Given the description of an element on the screen output the (x, y) to click on. 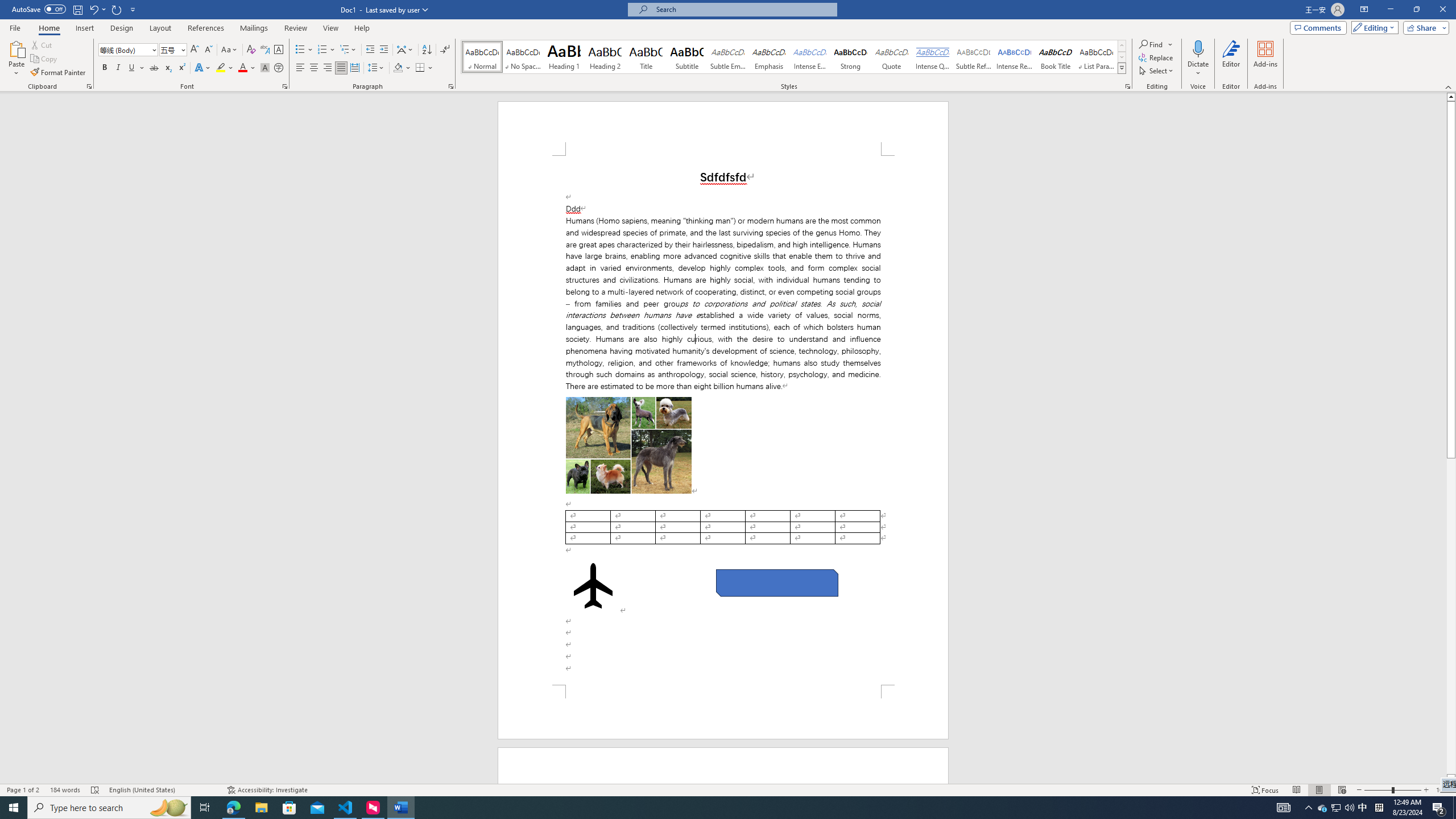
Quote (891, 56)
Select (1157, 69)
Repeat Italic (117, 9)
Morphological variation in six dogs (628, 445)
Character Border (278, 49)
Copy (45, 58)
